Given the description of an element on the screen output the (x, y) to click on. 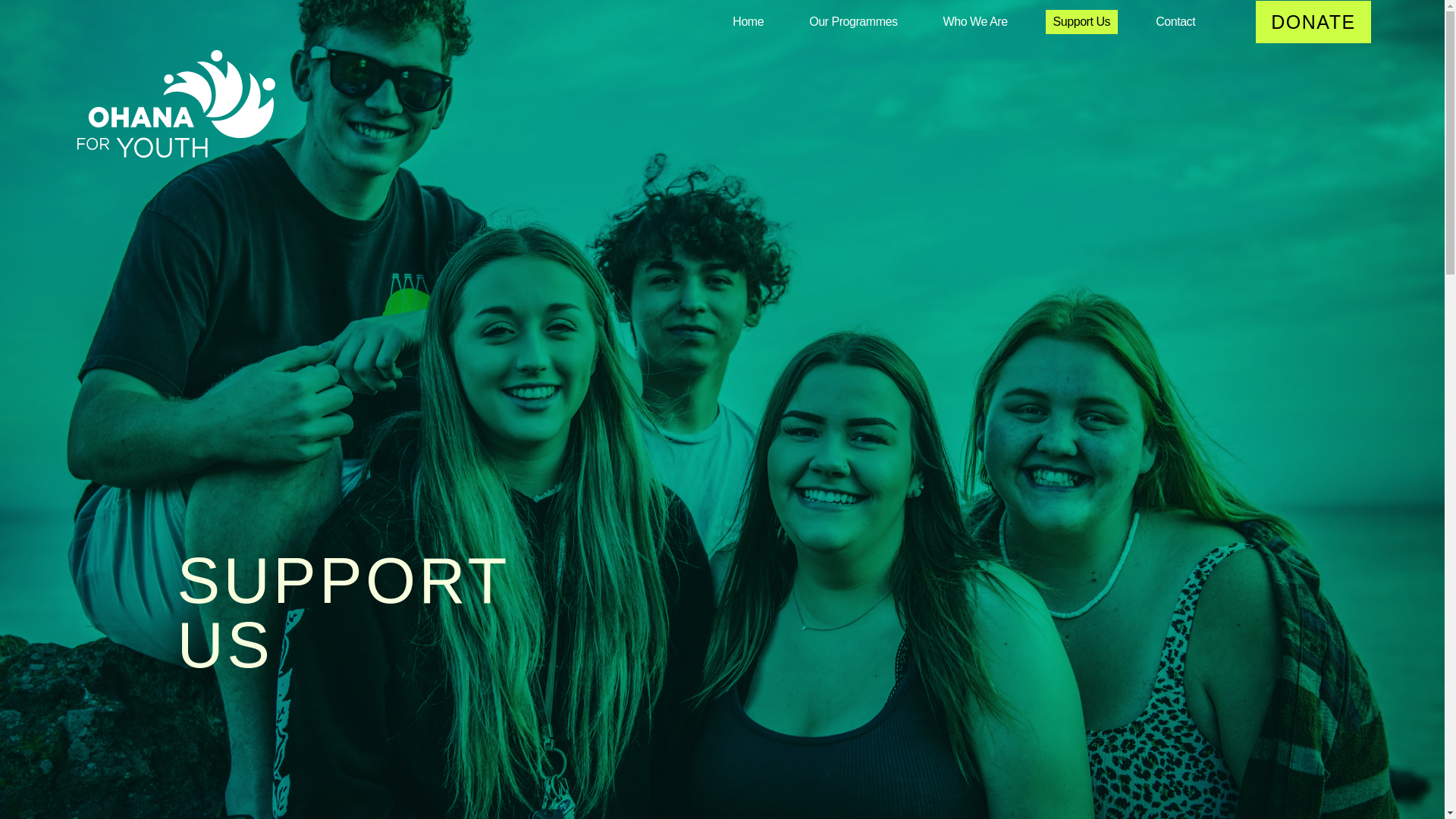
Home (748, 21)
Support Us (1081, 21)
Our Programmes (853, 21)
Who We Are (975, 21)
DONATE (1313, 22)
Contact (1175, 21)
